Given the description of an element on the screen output the (x, y) to click on. 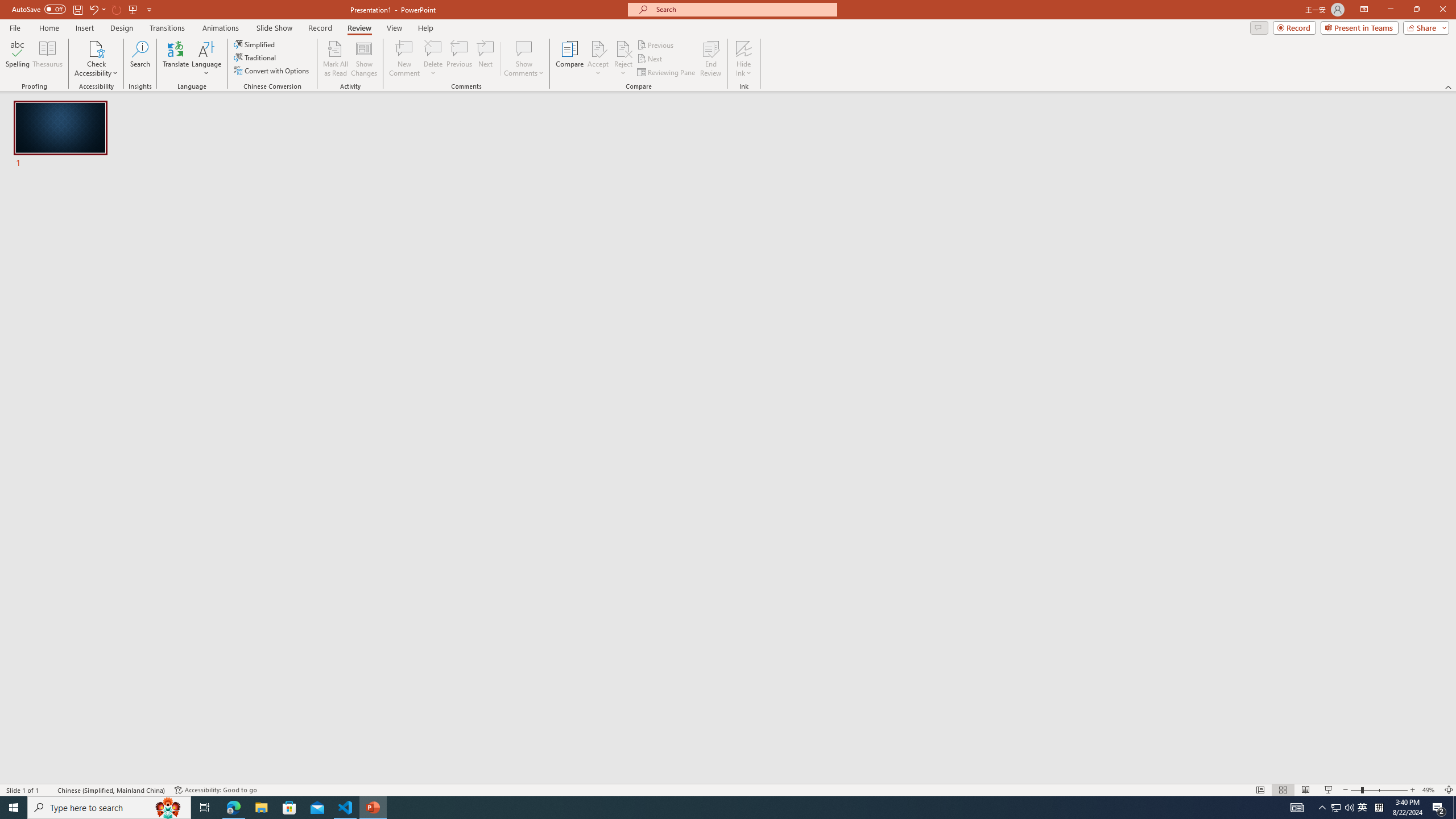
Convert with Options... (272, 69)
End Review (710, 58)
Accept (598, 58)
